Given the description of an element on the screen output the (x, y) to click on. 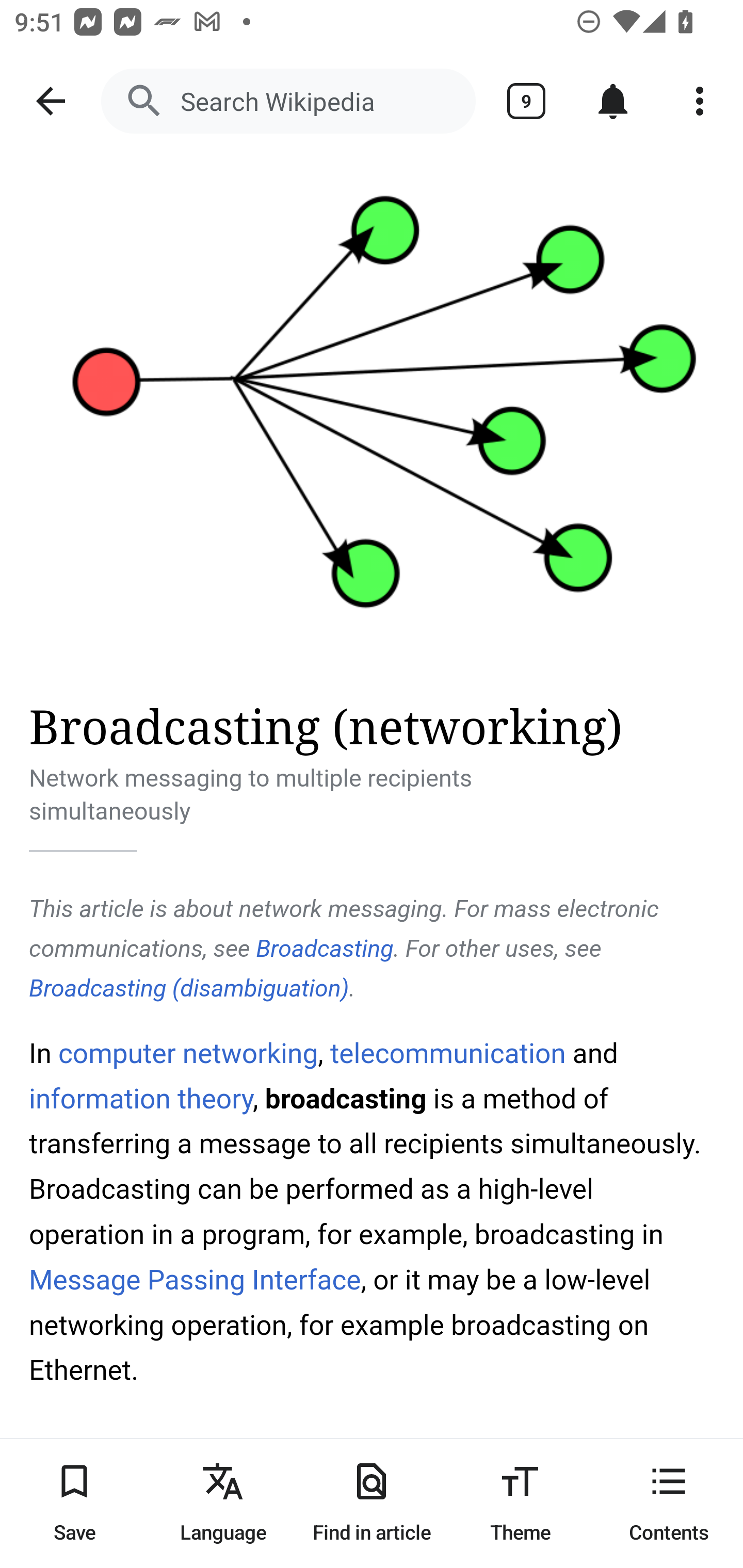
Show tabs 9 (525, 100)
Notifications (612, 100)
Navigate up (50, 101)
More options (699, 101)
Search Wikipedia (288, 100)
Image: Broadcasting (networking) (371, 414)
Broadcasting (324, 949)
Broadcasting (disambiguation) (189, 987)
computer networking (188, 1053)
telecommunication (447, 1053)
information theory (141, 1098)
Message Passing Interface (195, 1280)
Save (74, 1502)
Language (222, 1502)
Find in article (371, 1502)
Theme (519, 1502)
Contents (668, 1502)
